Given the description of an element on the screen output the (x, y) to click on. 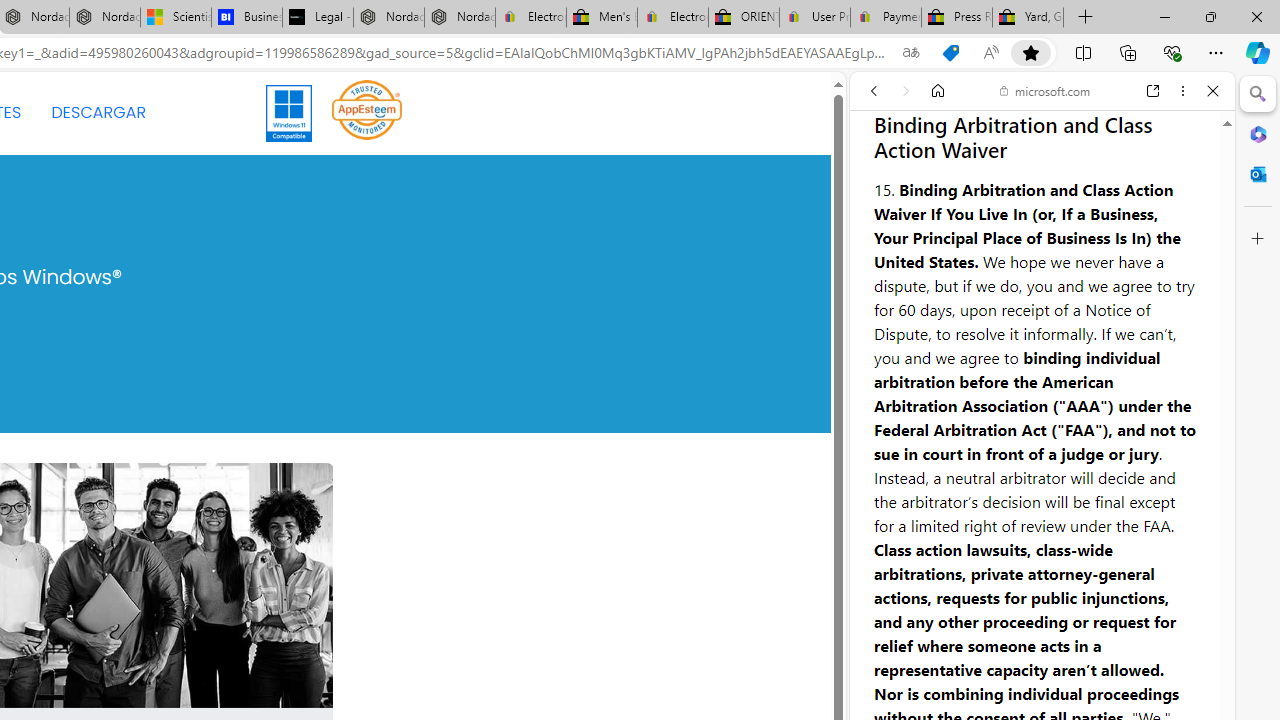
Windows 11 (289, 112)
